Given the description of an element on the screen output the (x, y) to click on. 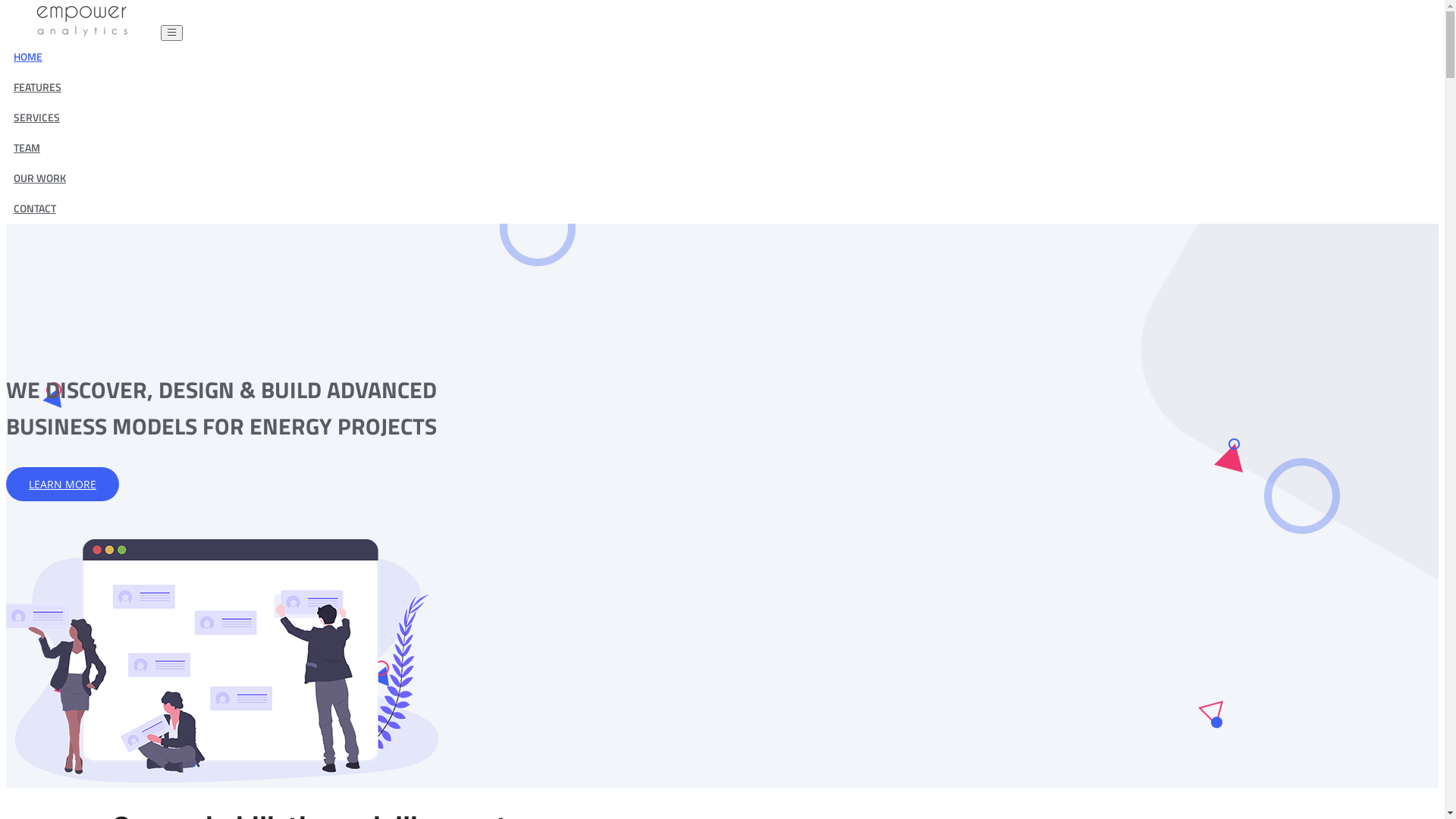
FEATURES Element type: text (37, 86)
HOME Element type: text (28, 56)
TEAM Element type: text (26, 147)
CONTACT Element type: text (34, 208)
OUR WORK Element type: text (39, 177)
SERVICES Element type: text (36, 117)
LEARN MORE Element type: text (62, 484)
